Given the description of an element on the screen output the (x, y) to click on. 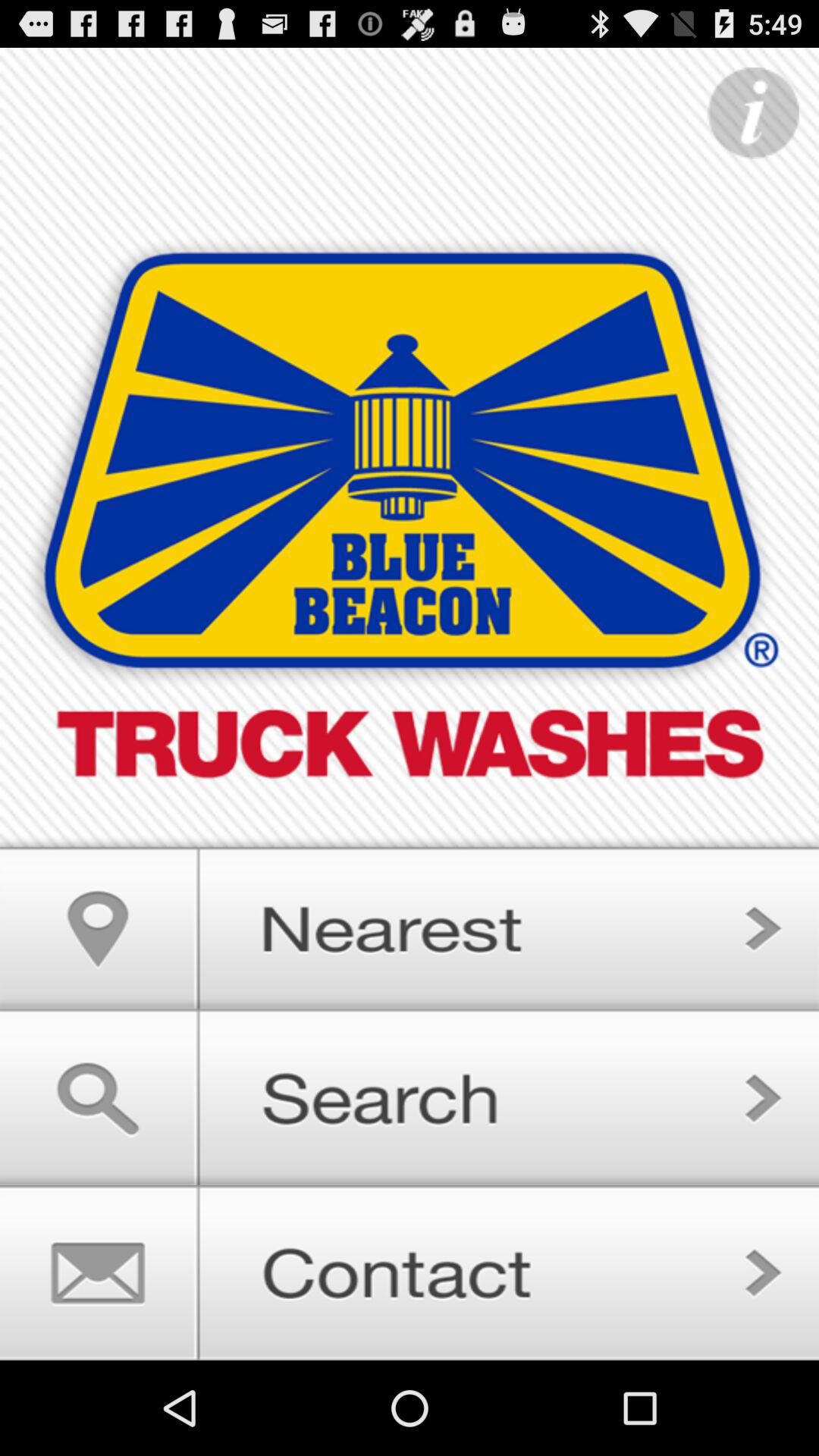
go to next (409, 1097)
